Given the description of an element on the screen output the (x, y) to click on. 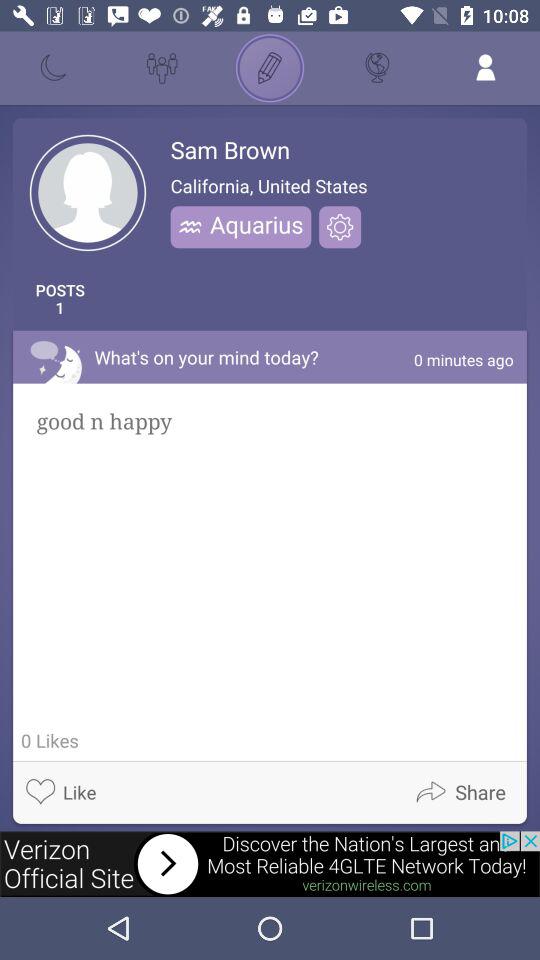
edit (269, 68)
